Given the description of an element on the screen output the (x, y) to click on. 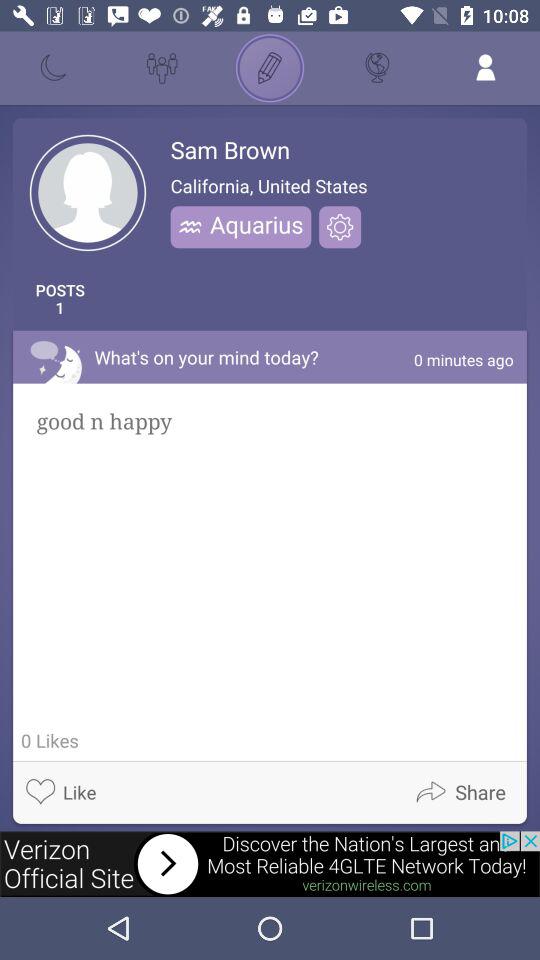
edit (269, 68)
